Given the description of an element on the screen output the (x, y) to click on. 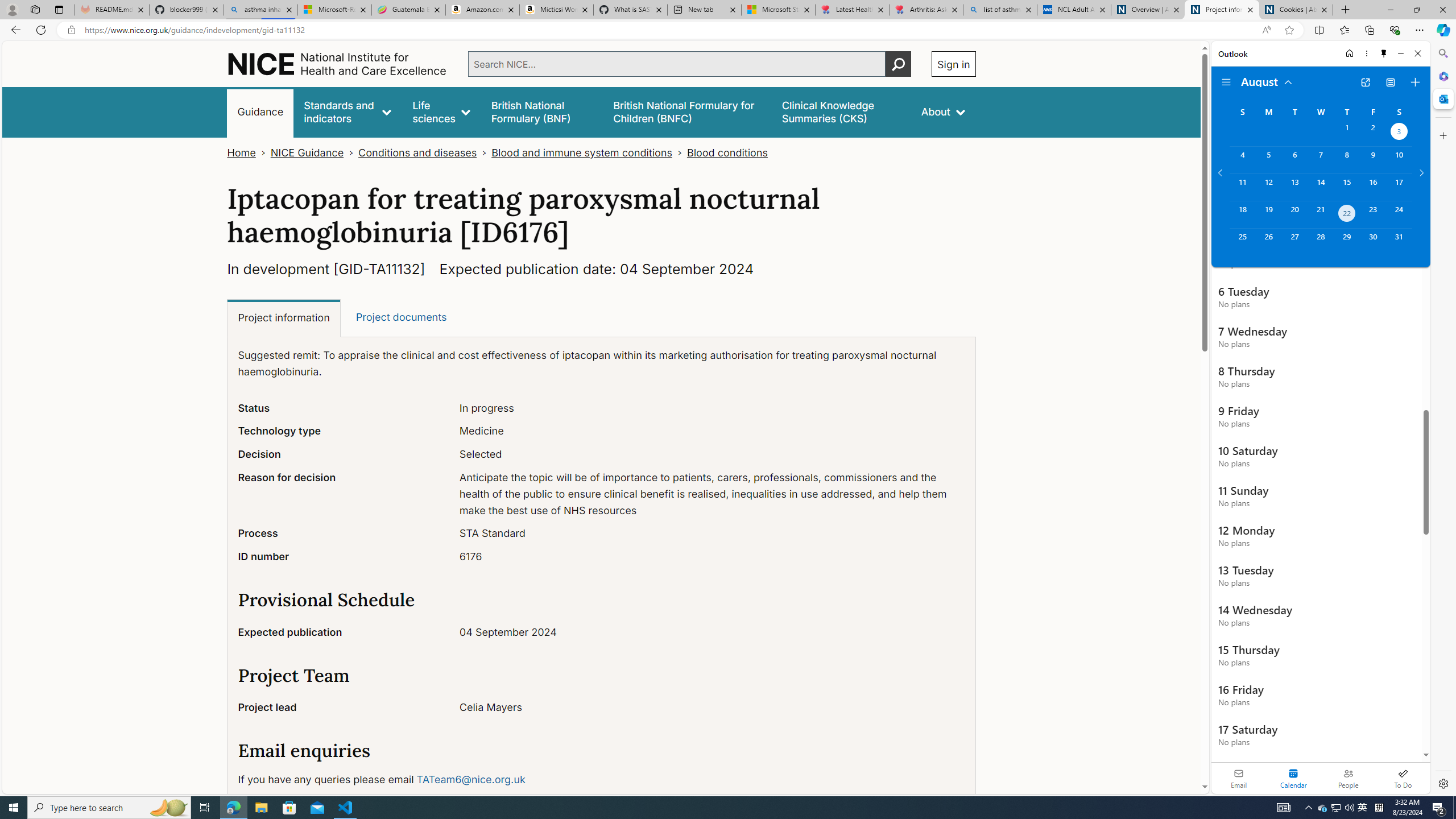
Life sciences (440, 111)
Minimize (1401, 53)
If you have any queries please email TATeam6@nice.org.uk (601, 779)
Close Customize pane (1442, 135)
Close tab (1324, 9)
Friday, August 2, 2024.  (1372, 132)
Restore (1416, 9)
Project information (283, 317)
Perform search (898, 63)
View site information (70, 29)
Saturday, August 3, 2024. Date selected.  (1399, 132)
Sign in (952, 63)
Thursday, August 29, 2024.  (1346, 241)
